Given the description of an element on the screen output the (x, y) to click on. 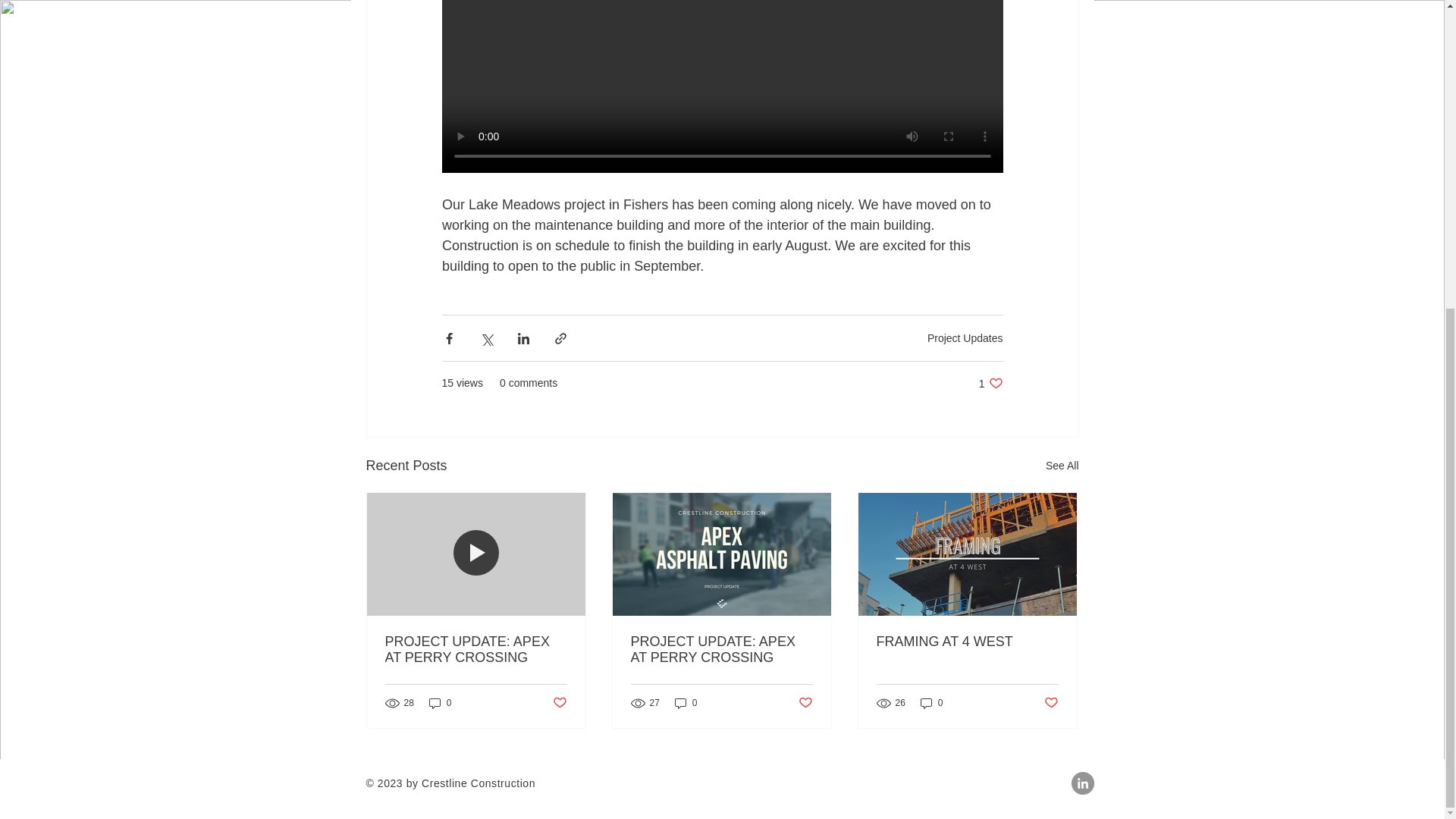
Post not marked as liked (990, 382)
PROJECT UPDATE: APEX AT PERRY CROSSING (1050, 703)
Project Updates (721, 649)
Post not marked as liked (965, 337)
0 (558, 703)
Post not marked as liked (931, 703)
0 (804, 703)
FRAMING AT 4 WEST (685, 703)
0 (967, 641)
PROJECT UPDATE: APEX AT PERRY CROSSING (440, 703)
See All (476, 649)
